Given the description of an element on the screen output the (x, y) to click on. 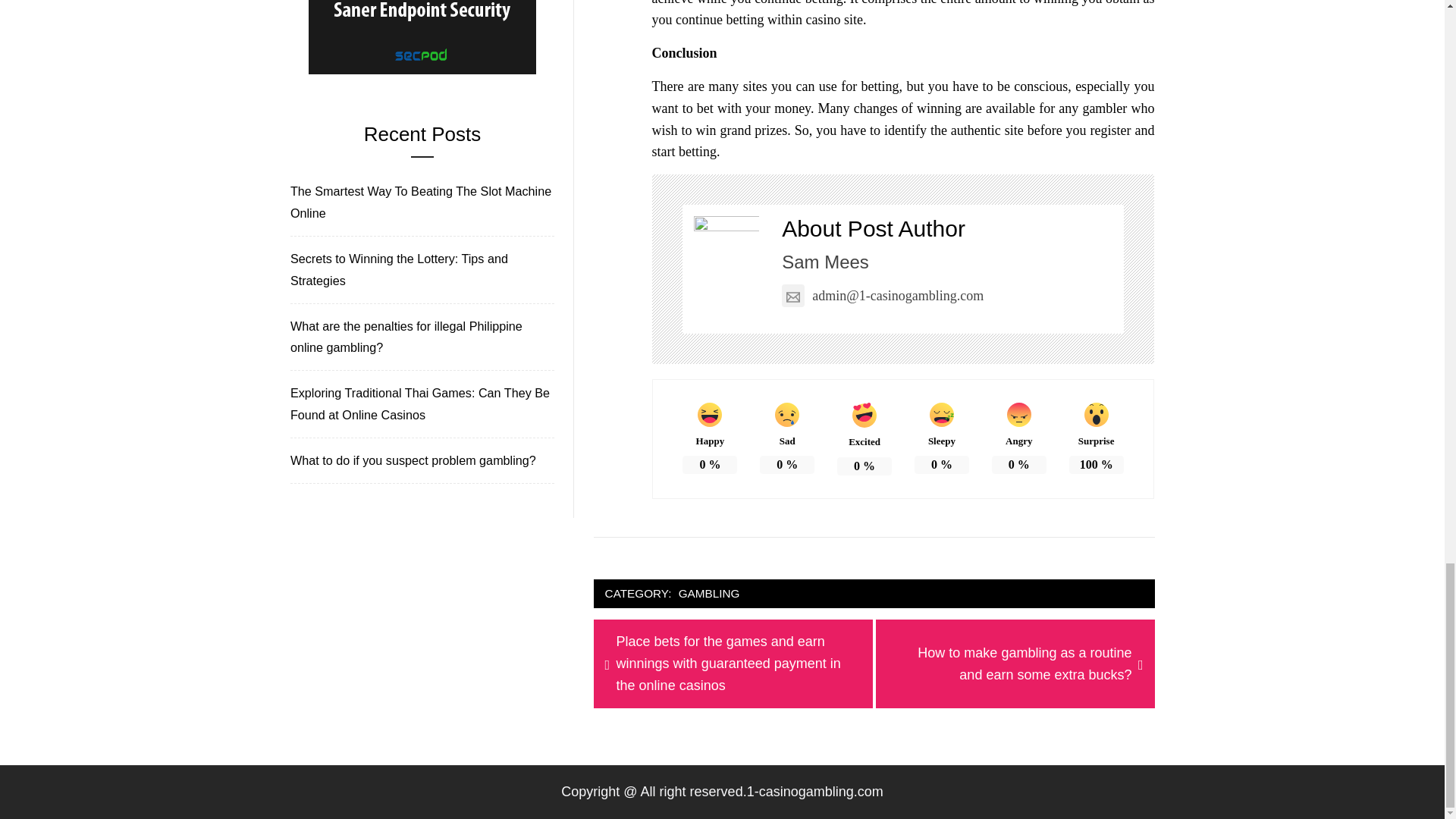
GAMBLING (709, 594)
Sam Mees (825, 261)
